Given the description of an element on the screen output the (x, y) to click on. 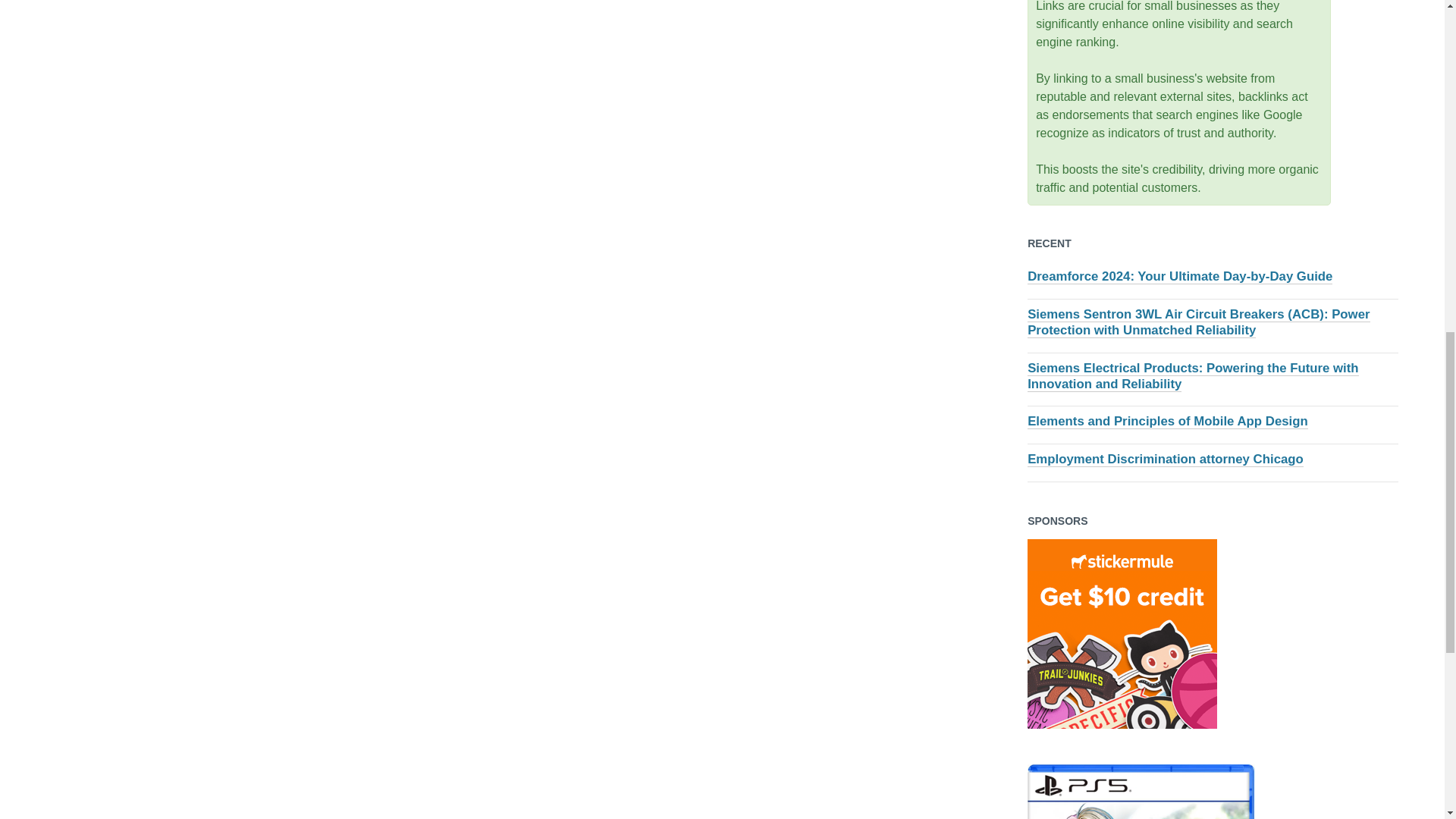
Employment Discrimination attorney Chicago (1165, 459)
Elements and Principles of Mobile App Design (1167, 421)
Dreamforce 2024: Your Ultimate Day-by-Day Guide (1179, 276)
